Given the description of an element on the screen output the (x, y) to click on. 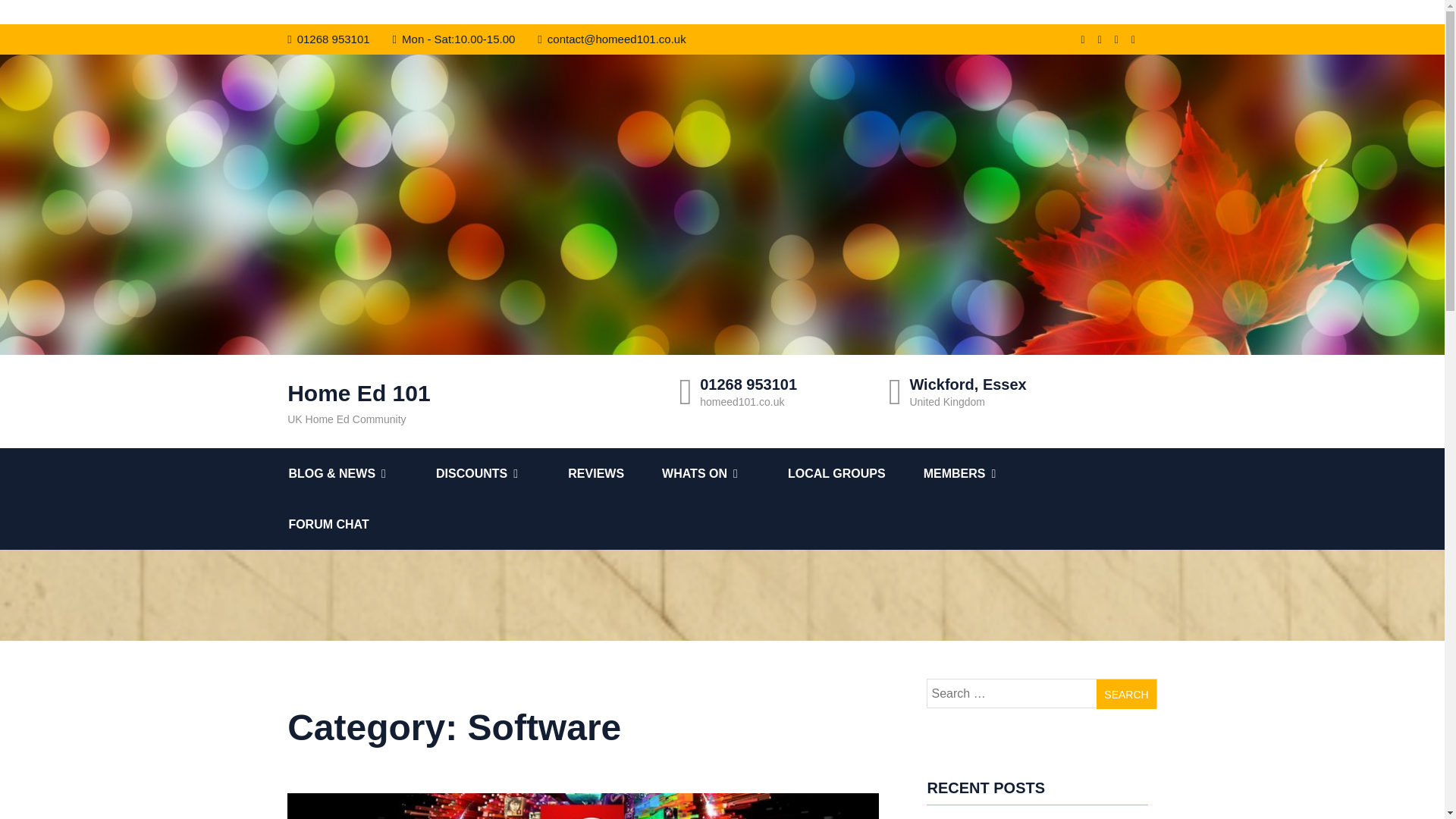
Home Ed 101 (471, 392)
DISCOUNTS (501, 472)
MEMBERS (984, 472)
Search (1126, 694)
Search (1126, 694)
LOCAL GROUPS (855, 472)
Search (1126, 694)
FORUM CHAT (347, 523)
WHATS ON (724, 472)
